Given the description of an element on the screen output the (x, y) to click on. 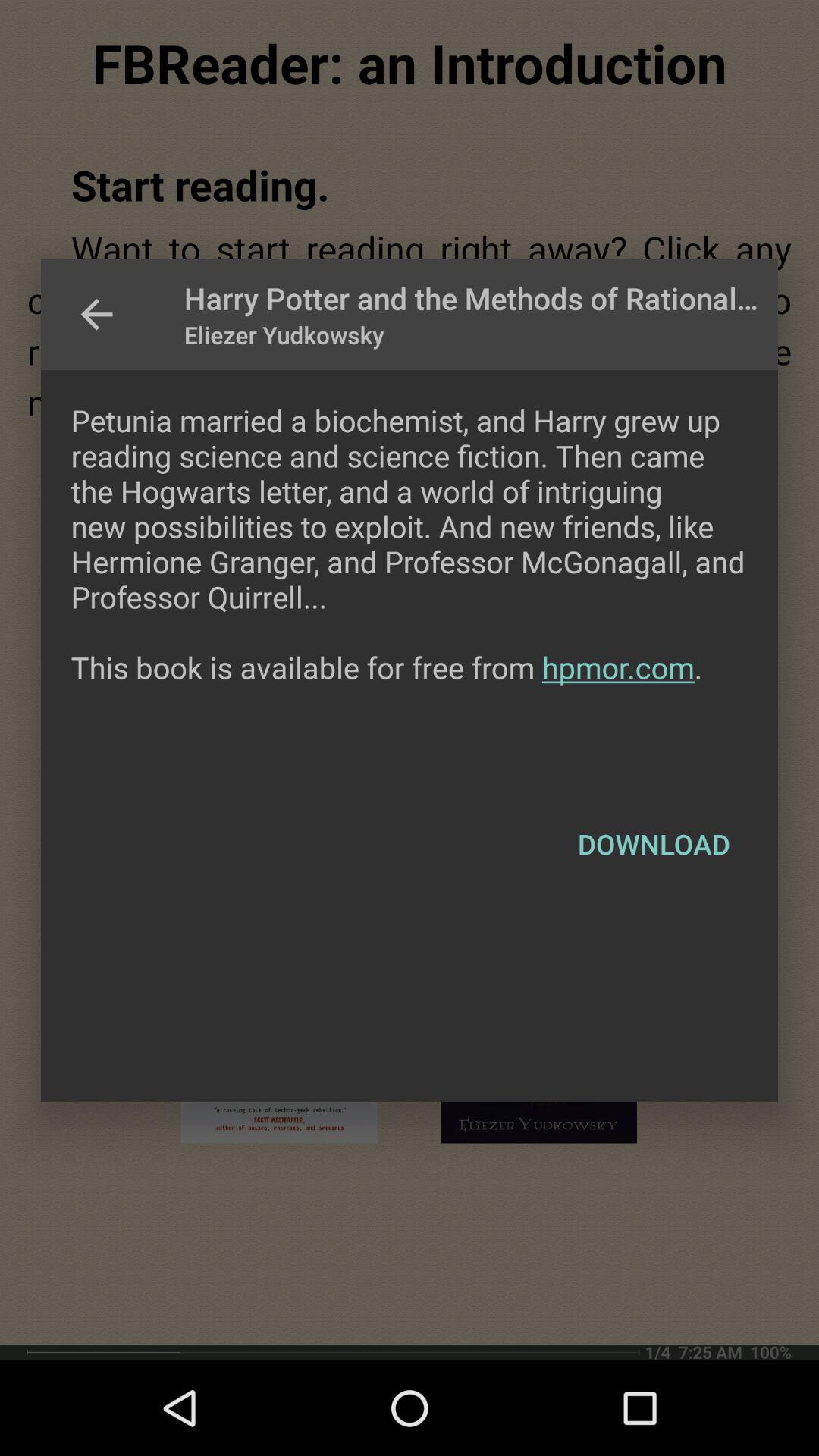
swipe to download item (653, 843)
